Given the description of an element on the screen output the (x, y) to click on. 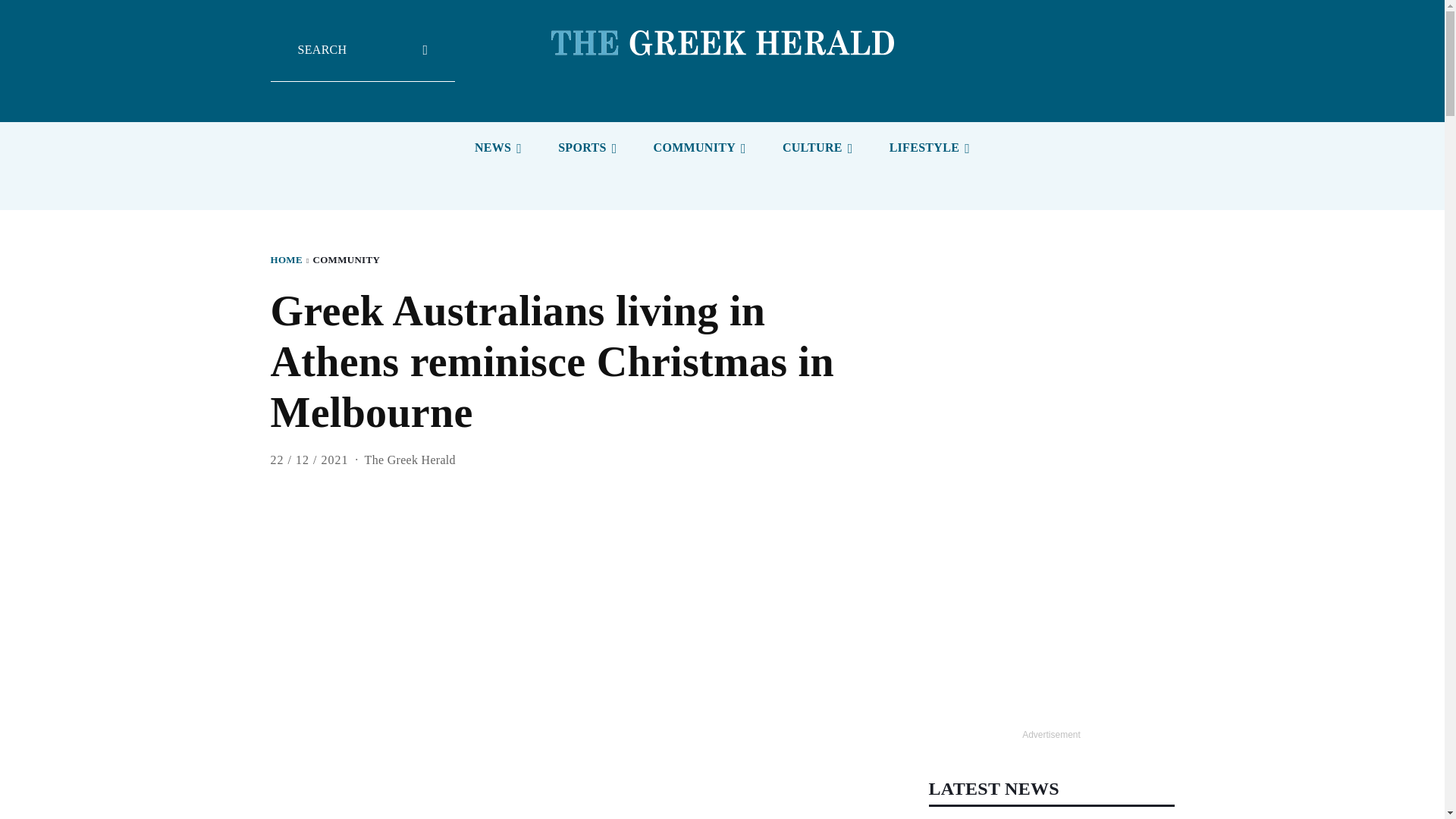
Search (361, 60)
